Given the description of an element on the screen output the (x, y) to click on. 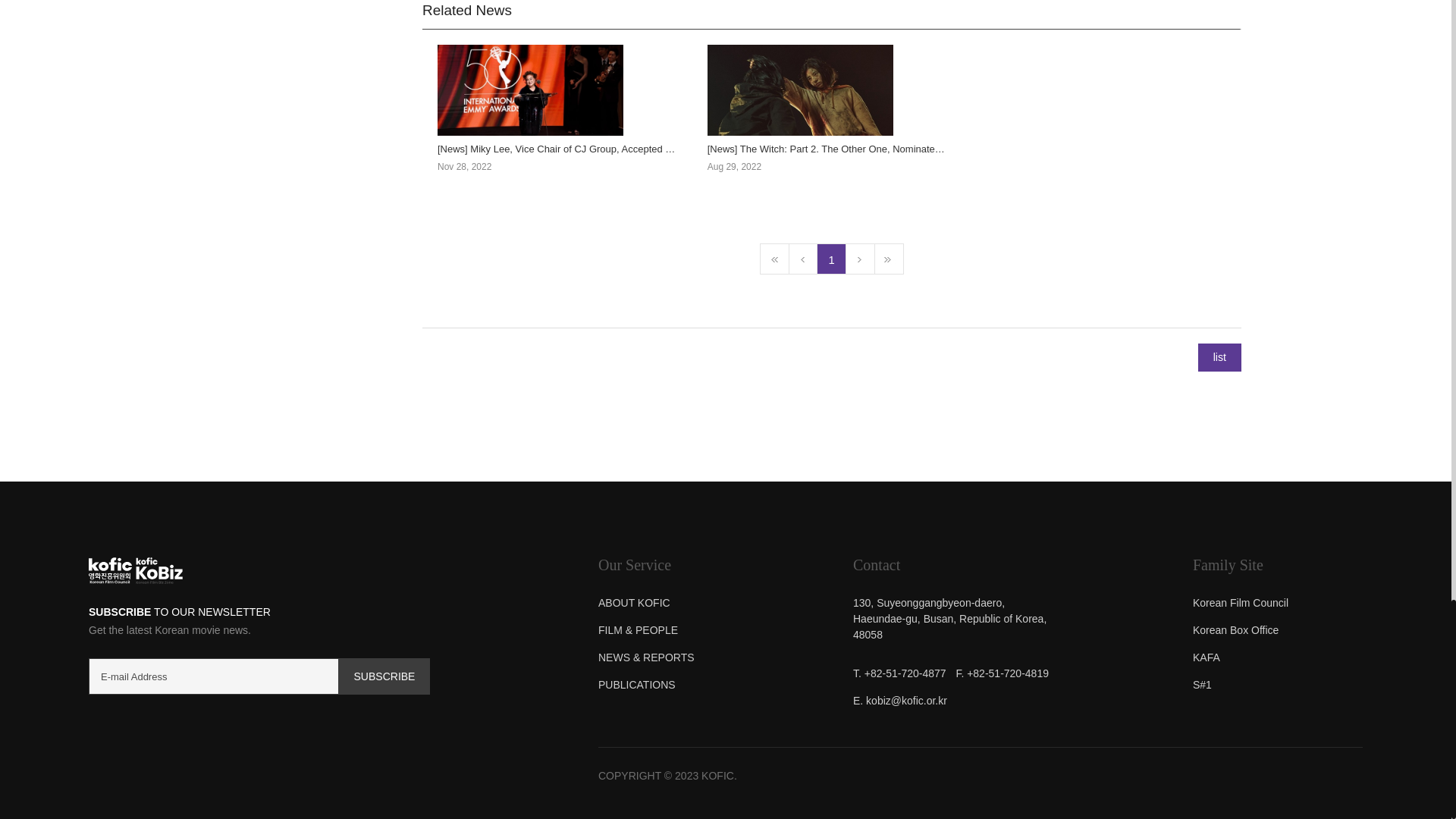
list (1219, 357)
